Given the description of an element on the screen output the (x, y) to click on. 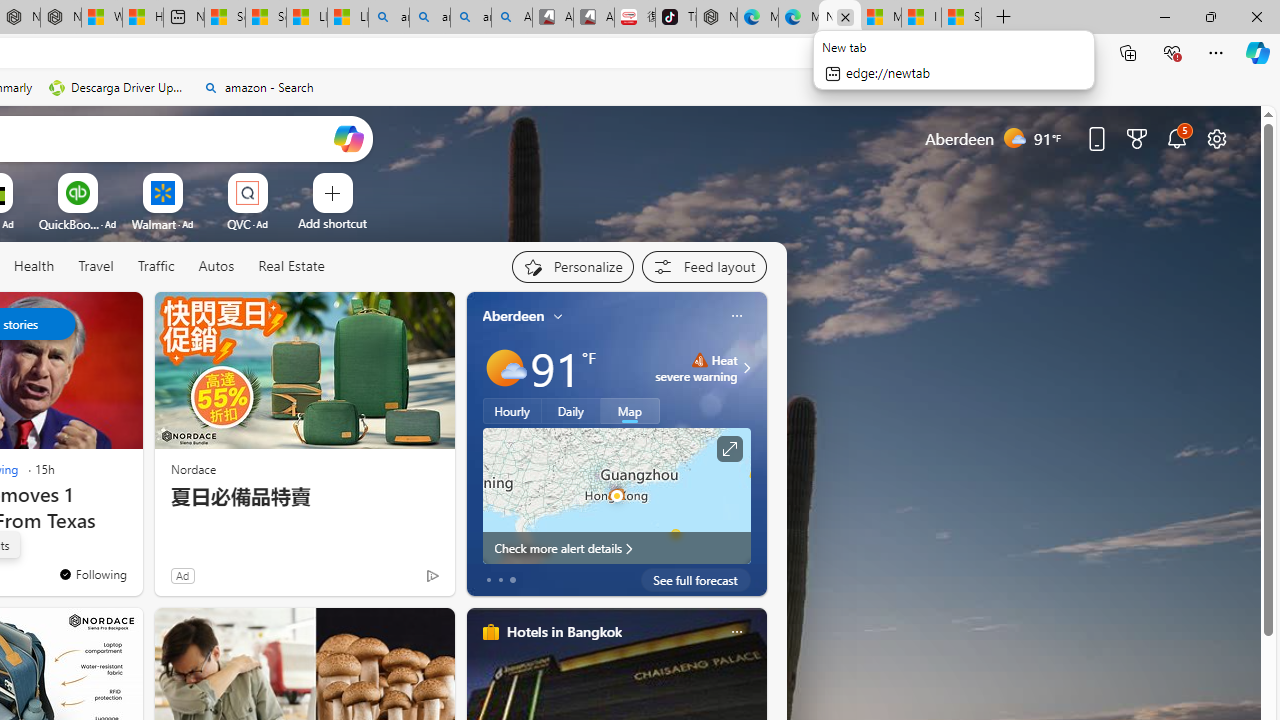
hotels-header-icon (490, 632)
Ad Choice (432, 575)
Notifications (1176, 138)
Open Copilot (347, 138)
You're following The Weather Channel (390, 579)
Add this page to favorites (Ctrl+D) (1030, 53)
Mostly sunny (504, 368)
Map (630, 411)
Class: weather-arrow-glyph (746, 367)
Health (33, 267)
Add a site (332, 223)
Ad (182, 575)
Minimize (1164, 16)
Microsoft rewards (1137, 138)
